Given the description of an element on the screen output the (x, y) to click on. 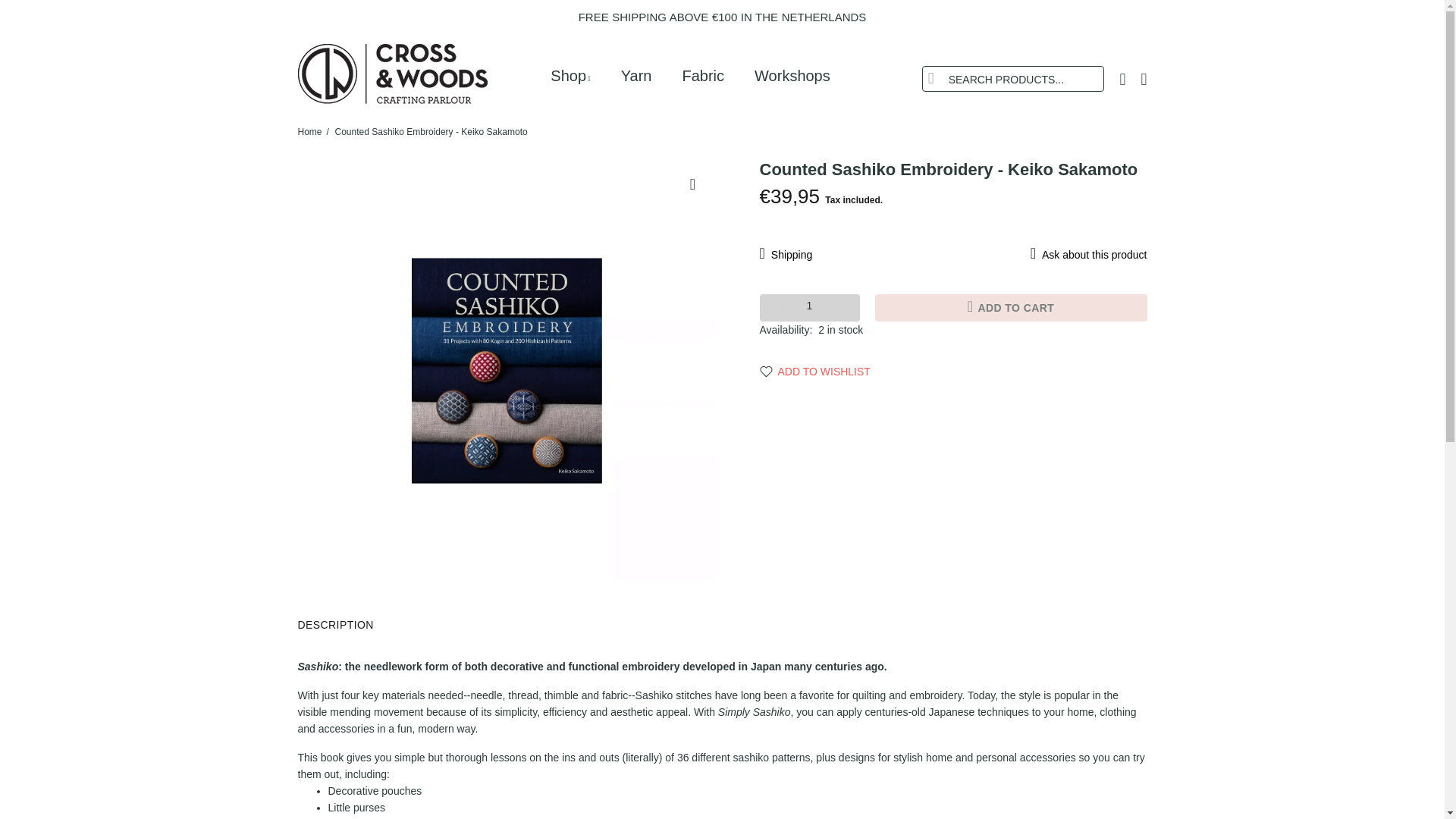
Yarn (635, 75)
1 (810, 307)
Fabric (702, 75)
Workshops (784, 75)
Shop (573, 75)
